Given the description of an element on the screen output the (x, y) to click on. 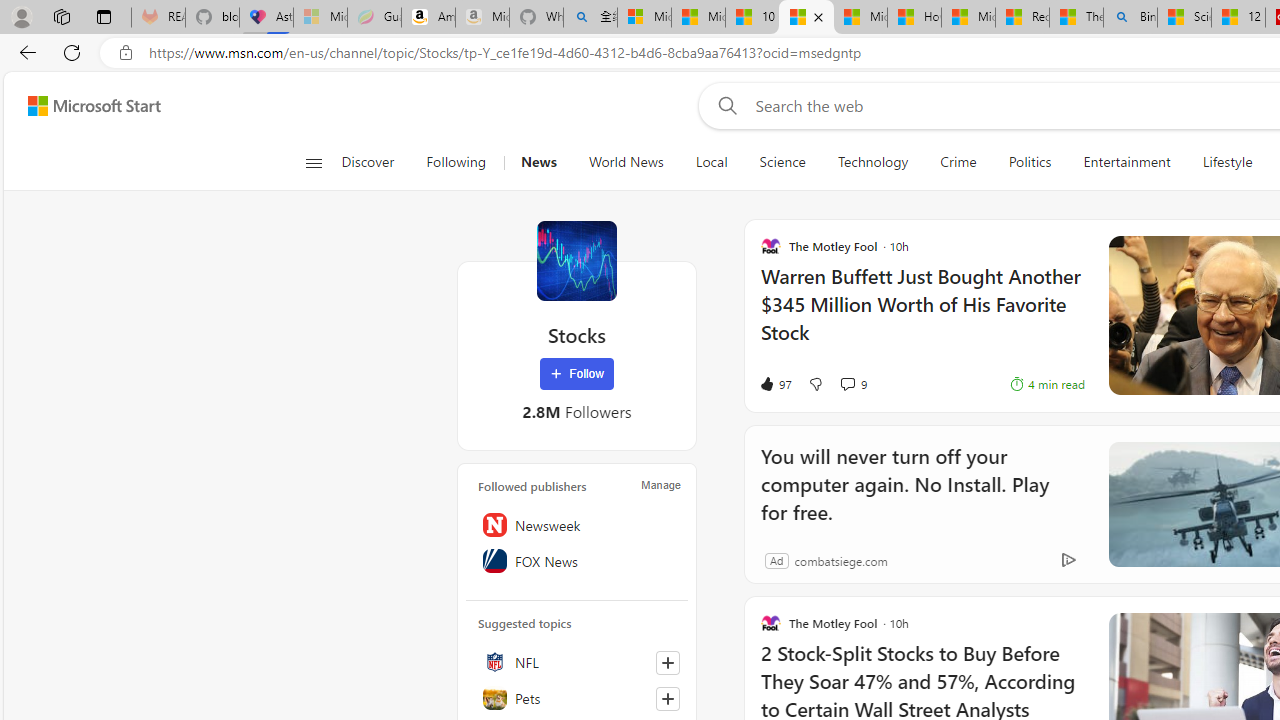
Bing (1130, 17)
Asthma Inhalers: Names and Types (266, 17)
Class: button-glyph (313, 162)
Open navigation menu (313, 162)
Technology (872, 162)
Crime (957, 162)
Microsoft-Report a Concern to Bing - Sleeping (320, 17)
Local (710, 162)
